Given the description of an element on the screen output the (x, y) to click on. 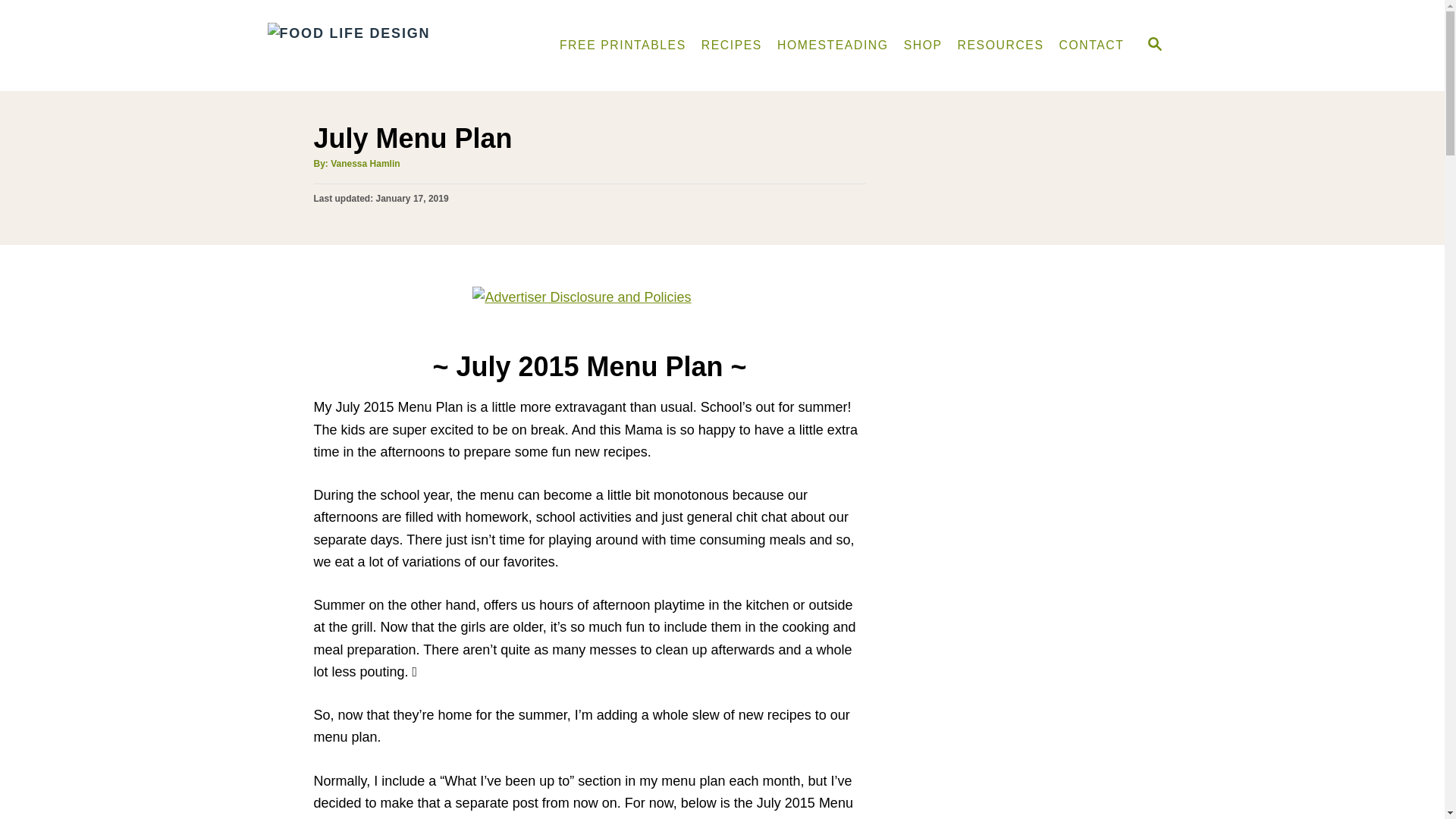
RECIPES (732, 45)
FREE PRINTABLES (622, 45)
Vanessa Hamlin (364, 163)
CONTACT (1091, 45)
SEARCH (1153, 45)
HOMESTEADING (833, 45)
SHOP (923, 45)
Food Life Design (394, 45)
RESOURCES (1000, 45)
